Given the description of an element on the screen output the (x, y) to click on. 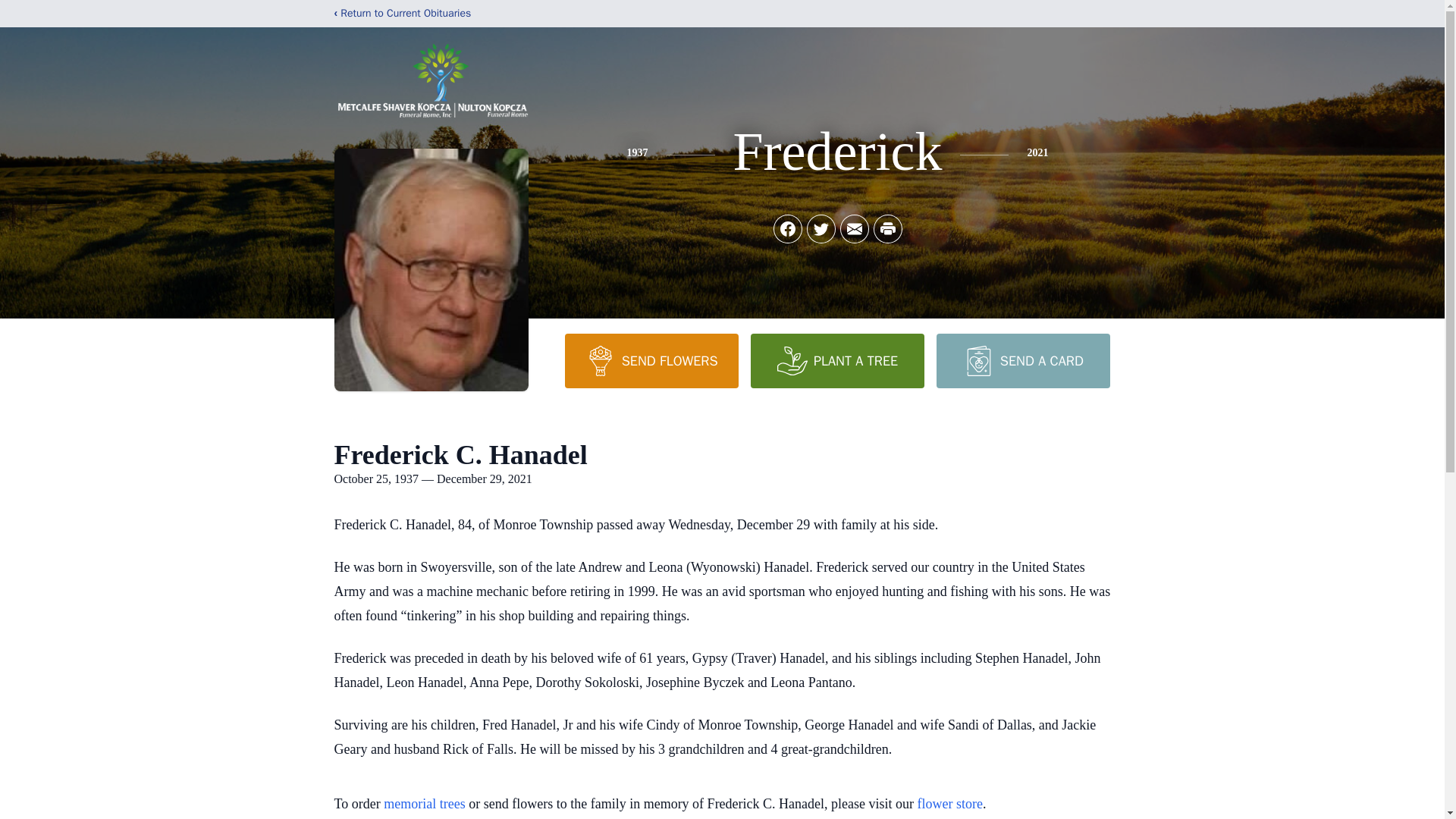
SEND A CARD (1022, 360)
flower store (949, 803)
PLANT A TREE (837, 360)
SEND FLOWERS (651, 360)
memorial trees (424, 803)
